Given the description of an element on the screen output the (x, y) to click on. 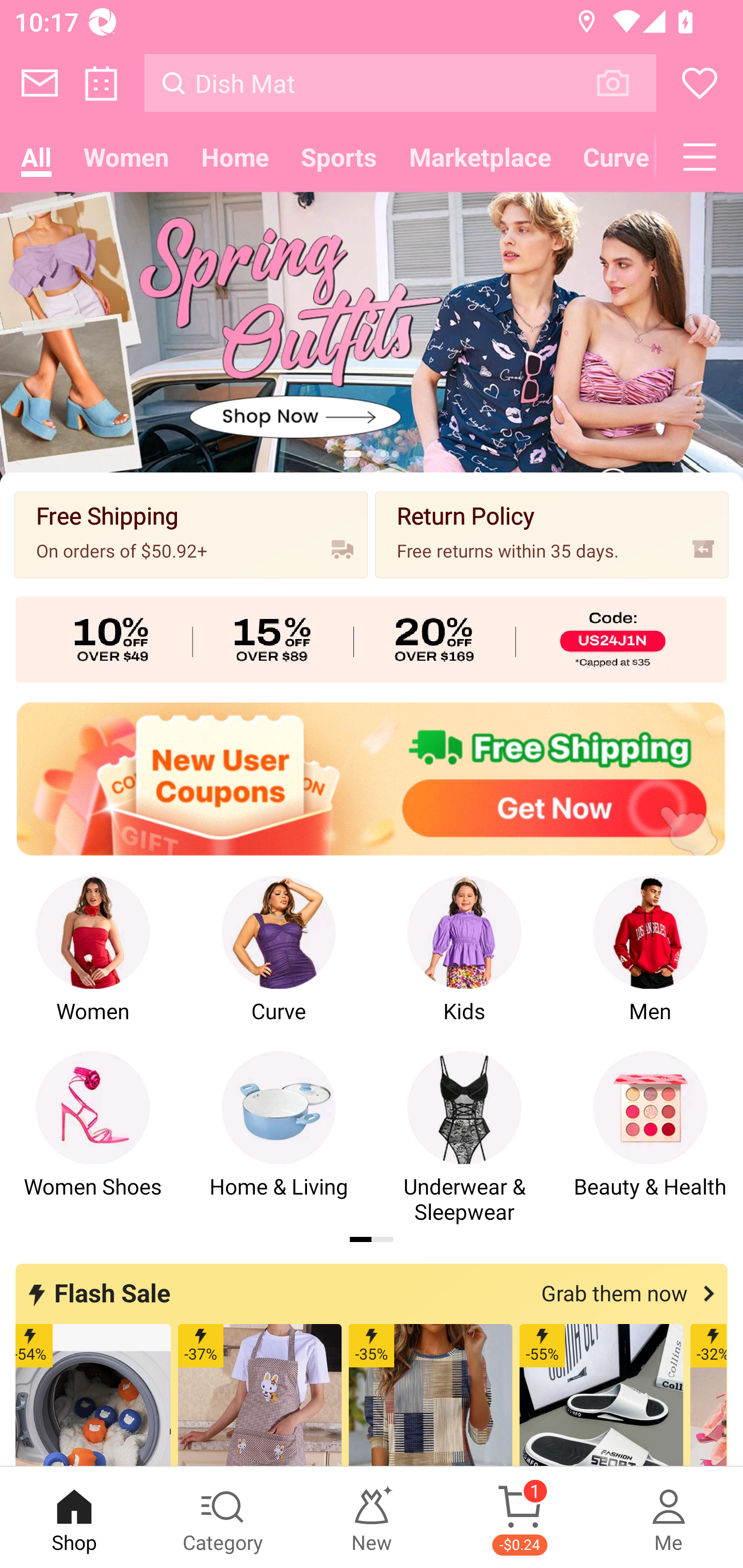
Wishlist (699, 82)
VISUAL SEARCH (623, 82)
All (36, 156)
Women (126, 156)
Home (234, 156)
Sports (338, 156)
Marketplace (479, 156)
Curve (611, 156)
Free Shipping On orders of $50.92+ (190, 534)
Return Policy Free returns within 35 days. (551, 534)
Women (92, 962)
Curve (278, 962)
Kids (464, 962)
Men (650, 962)
Women Shoes (92, 1138)
Home & Living (278, 1138)
Underwear & Sleepwear (464, 1138)
Beauty & Health (650, 1138)
Category (222, 1517)
New (371, 1517)
Cart 1 -$0.24 (519, 1517)
Me (668, 1517)
